Given the description of an element on the screen output the (x, y) to click on. 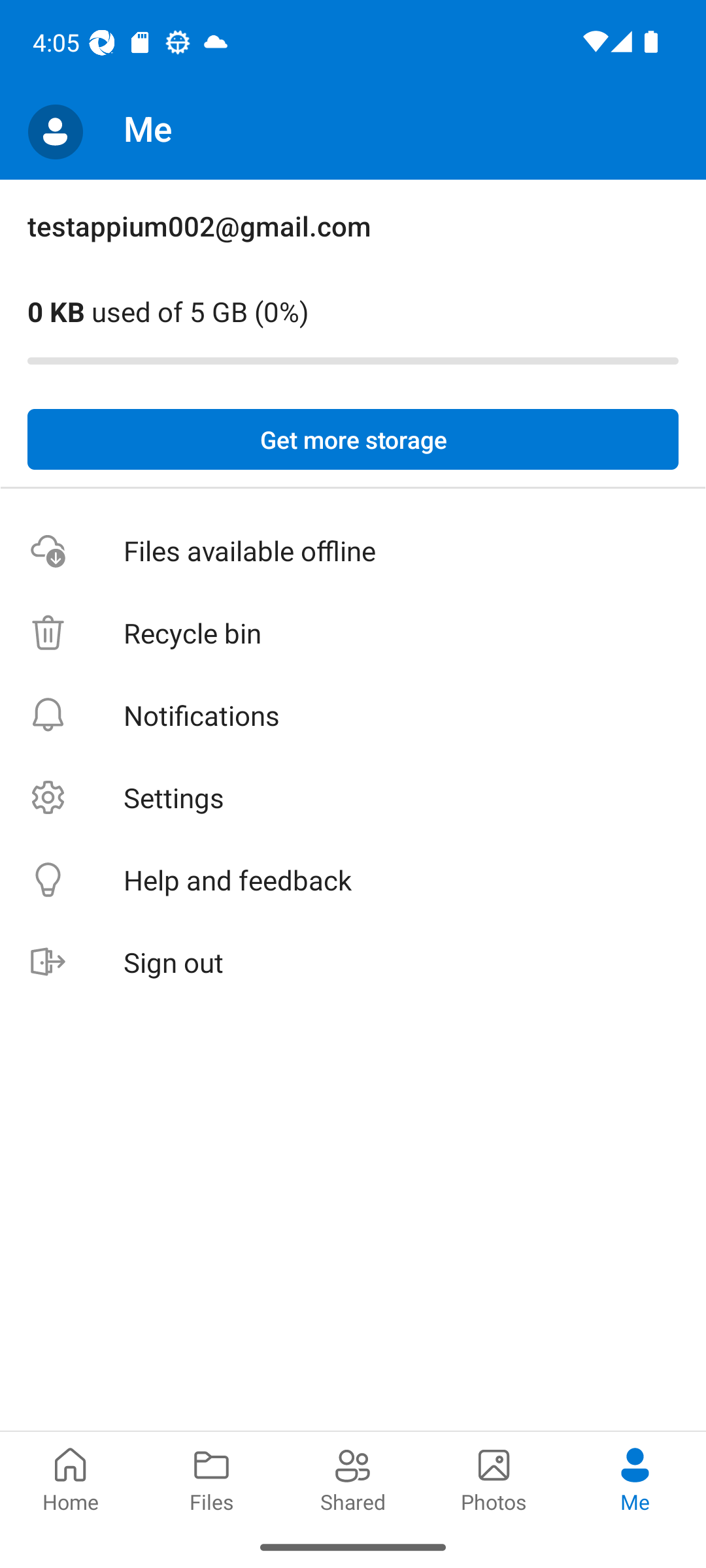
Account switcher (55, 131)
Get more storage (352, 439)
Files available offline (353, 550)
Recycle bin (353, 633)
Notifications (353, 714)
Settings (353, 796)
Help and feedback (353, 879)
Sign out (353, 962)
Home pivot Home (70, 1478)
Files pivot Files (211, 1478)
Shared pivot Shared (352, 1478)
Photos pivot Photos (493, 1478)
